Given the description of an element on the screen output the (x, y) to click on. 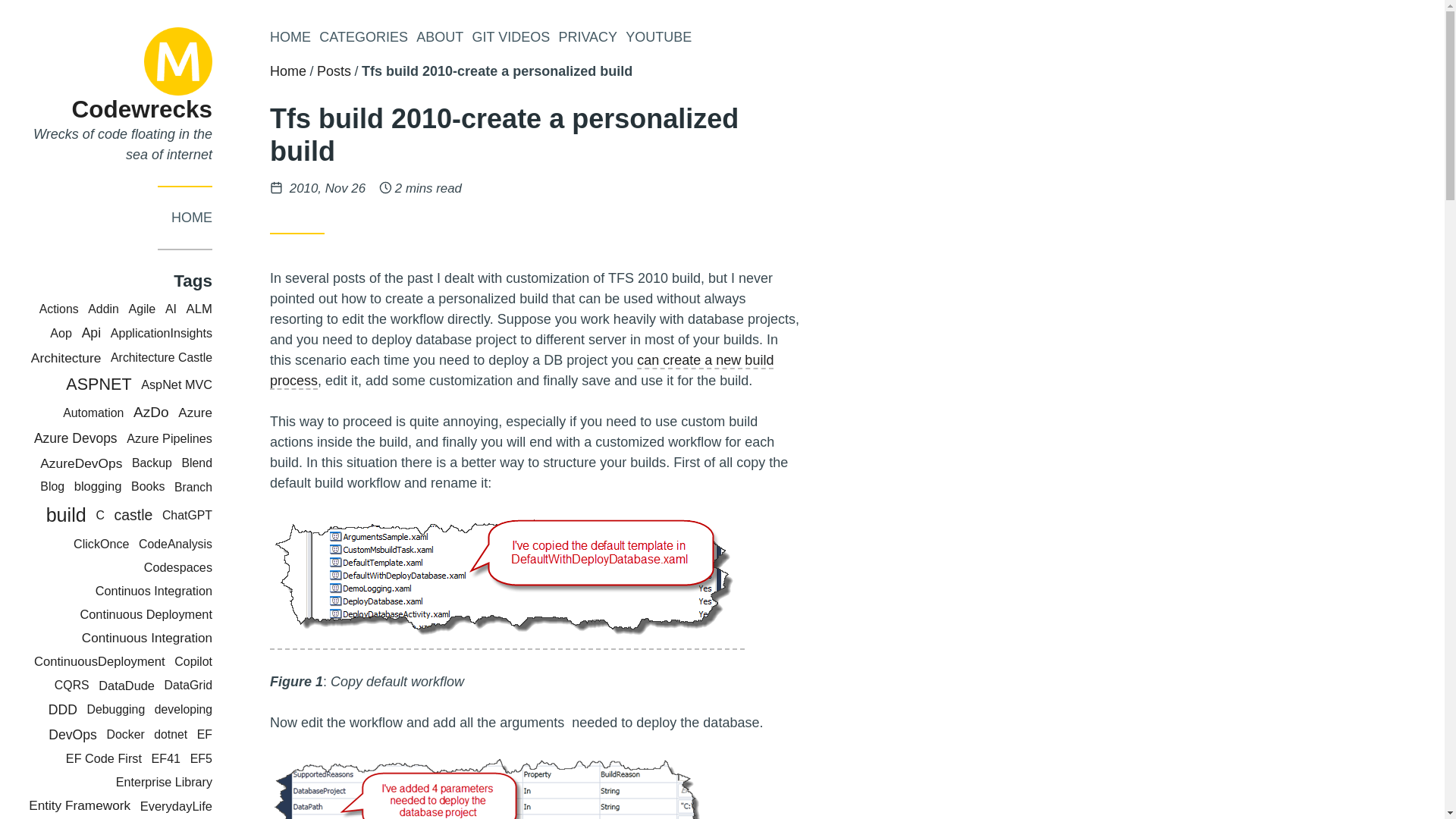
Api (90, 332)
C (99, 514)
Continuous Integration (146, 637)
Addin (103, 308)
Azure (194, 412)
blogging (98, 486)
Blend (196, 462)
AzDo (150, 412)
AzureDevOps (81, 462)
Continuous Deployment (146, 613)
ASPNET (98, 383)
CodeAnalysis (175, 543)
Architecture (65, 357)
Copilot (193, 661)
Books (147, 486)
